Given the description of an element on the screen output the (x, y) to click on. 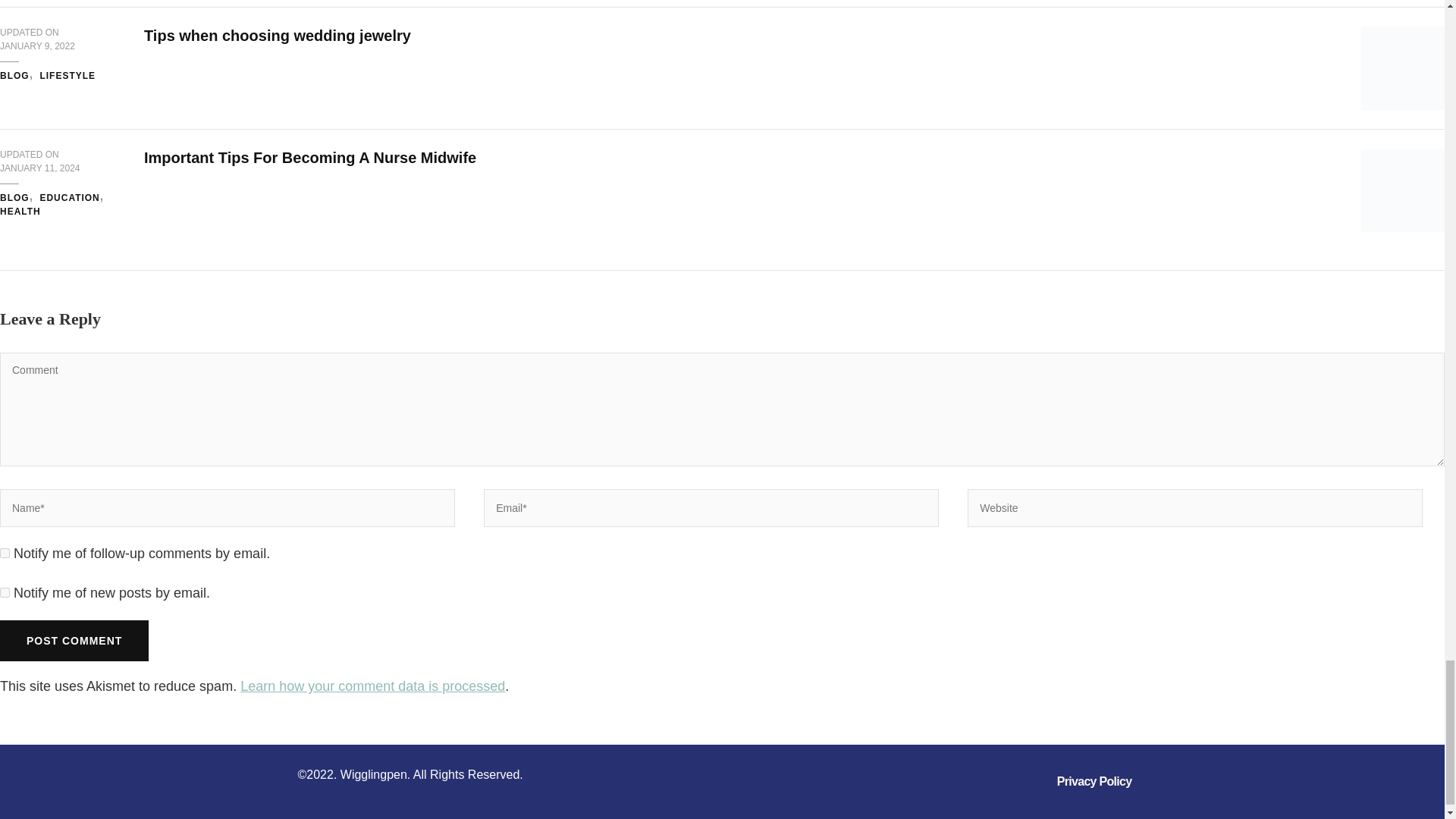
subscribe (5, 592)
subscribe (5, 552)
Post Comment (74, 639)
